Given the description of an element on the screen output the (x, y) to click on. 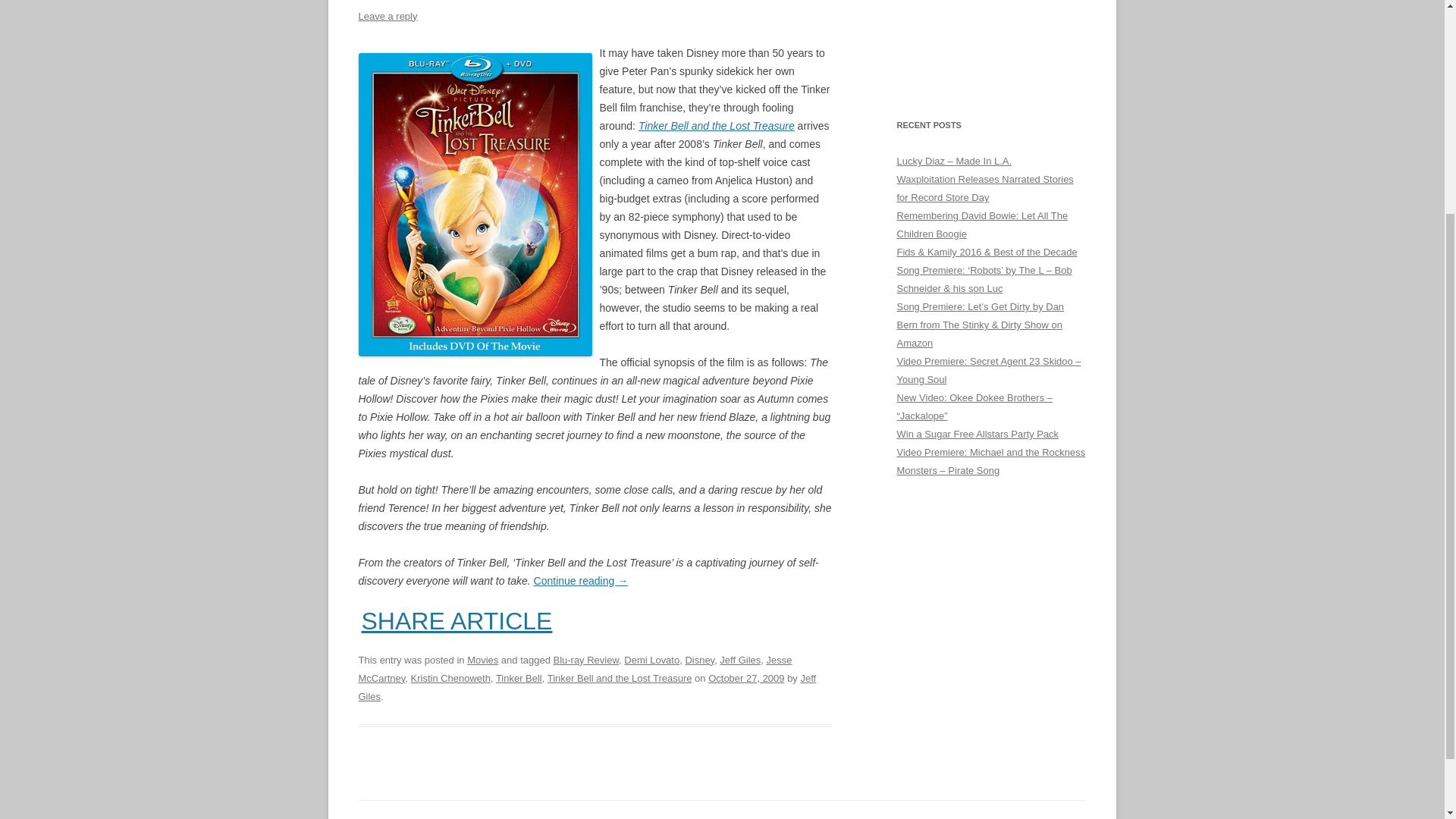
Demi Lovato (651, 659)
View all posts by Jeff Giles (586, 686)
Jeff Giles (586, 686)
Jeff Giles (739, 659)
Remembering David Bowie: Let All The Children Boogie (981, 224)
Waxploitation Releases Narrated Stories for Record Store Day (984, 188)
6:20 pm (745, 677)
Disney (699, 659)
Movies (482, 659)
Blu-ray Review (585, 659)
